Given the description of an element on the screen output the (x, y) to click on. 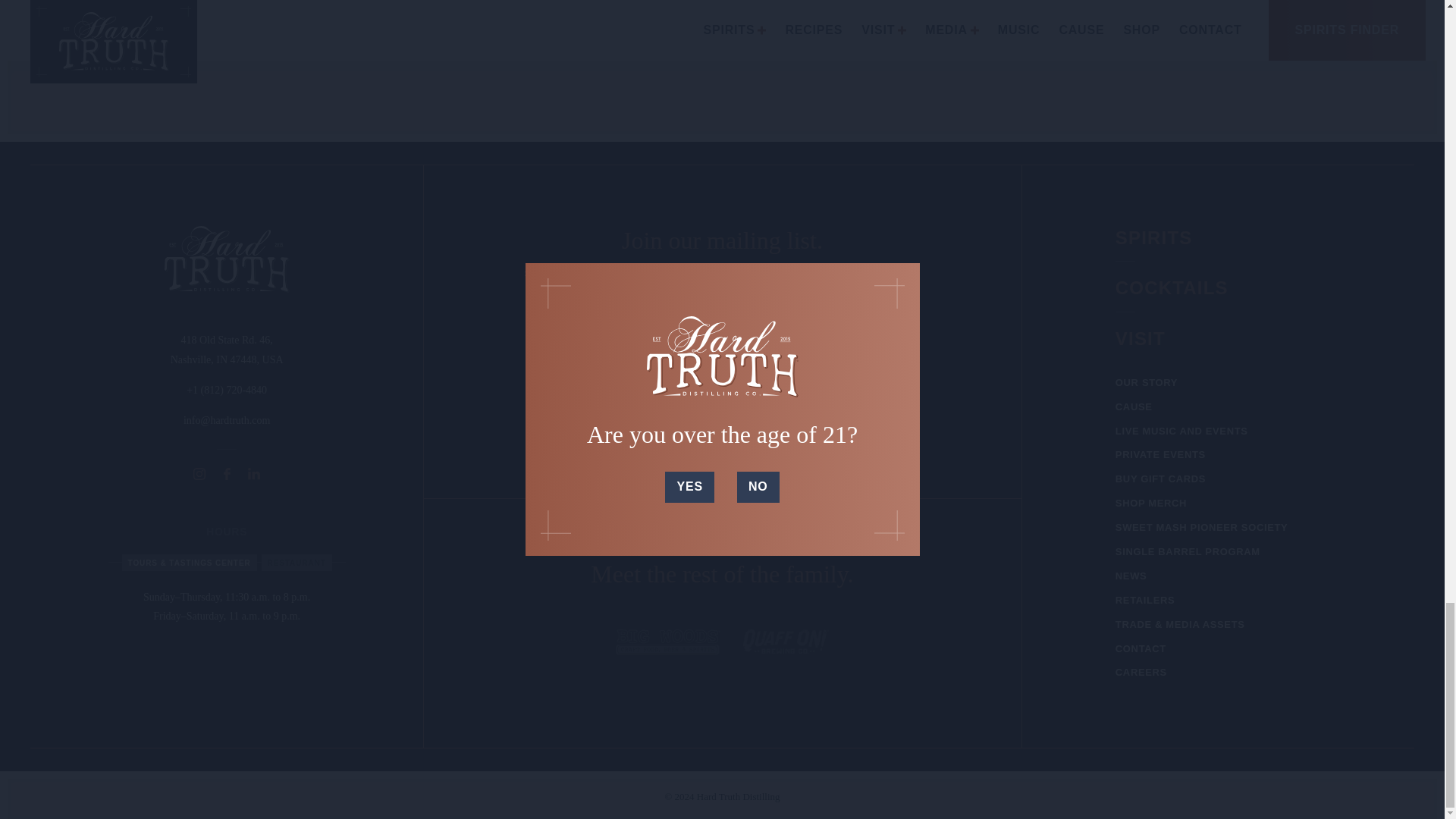
Hard Truth Newsletter (539, 378)
Sweet Mash Whiskey (729, 378)
